Given the description of an element on the screen output the (x, y) to click on. 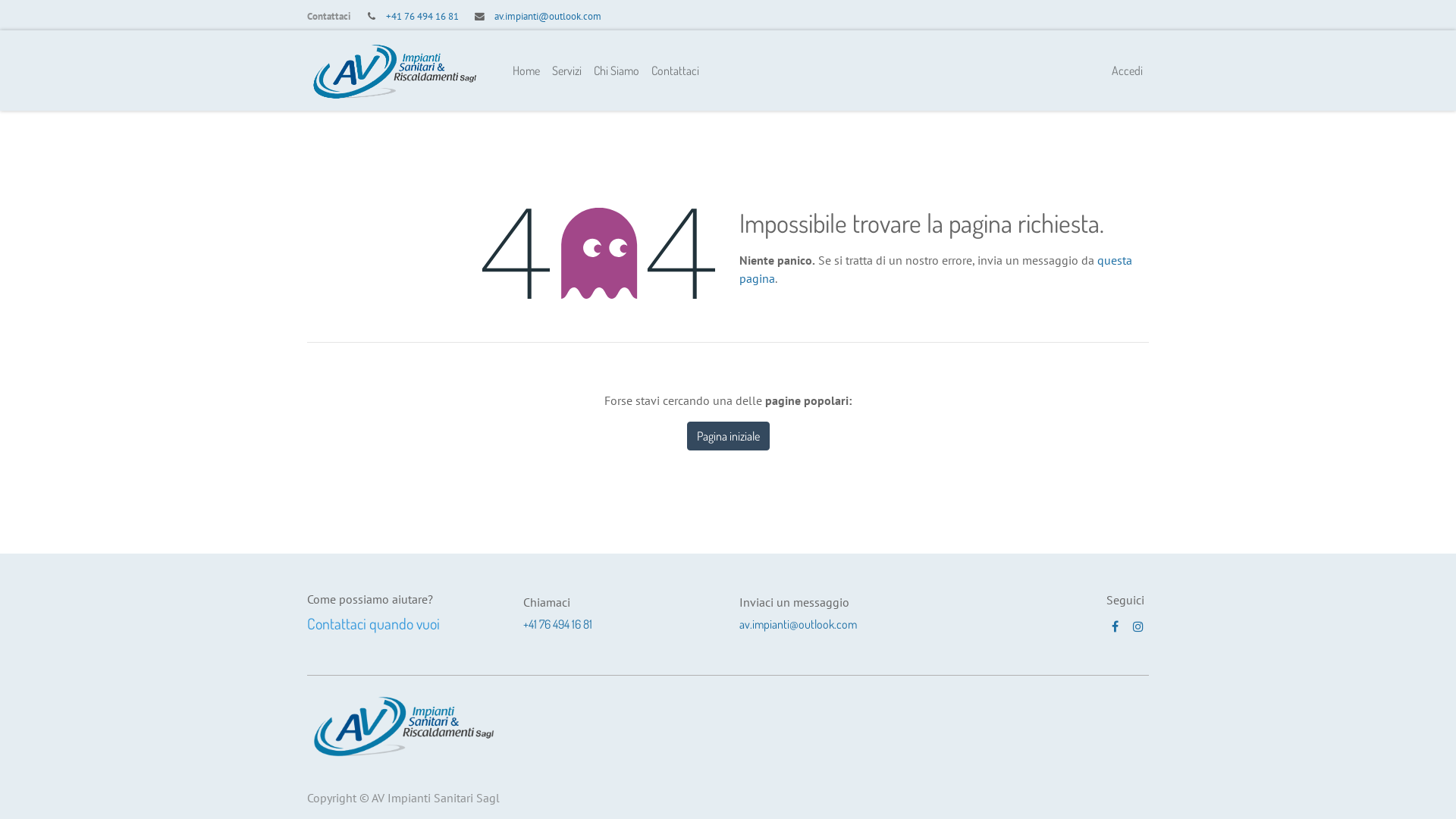
Pagina iniziale Element type: text (728, 435)
questa pagina Element type: text (935, 268)
Chi Siamo Element type: text (616, 70)
Contattaci Element type: text (675, 70)
Accedi Element type: text (1126, 70)
av.impianti@outlook.com Element type: text (547, 15)
+41 76 494 16 81 Element type: text (421, 15)
+41 76 494 16 81 Element type: text (557, 623)
AV Impianti Sagl Element type: hover (394, 70)
Home Element type: text (526, 70)
Servizi Element type: text (566, 70)
MyCompany Element type: hover (403, 724)
av.impianti@outlook.com Element type: text (797, 623)
